Given the description of an element on the screen output the (x, y) to click on. 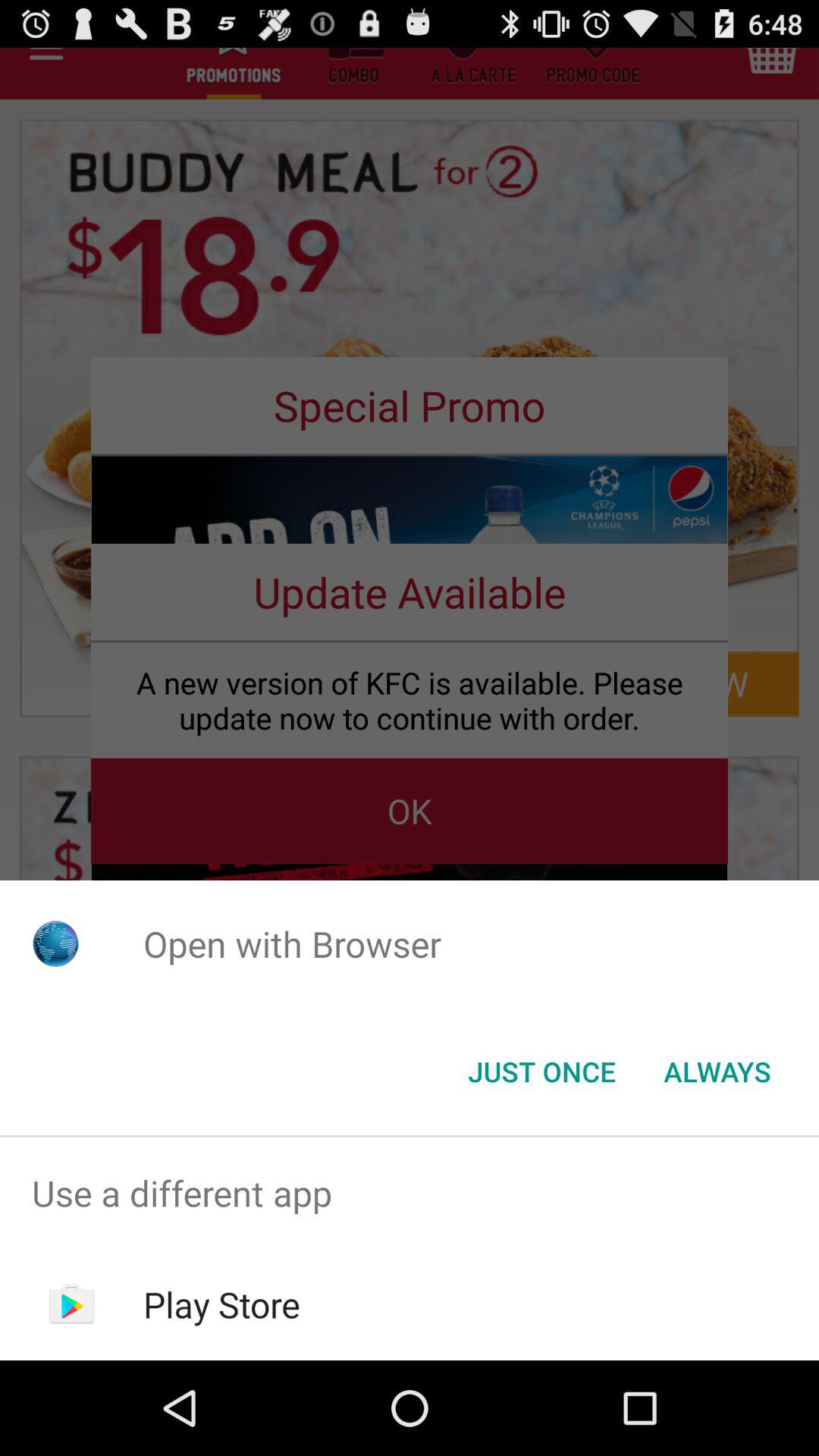
tap the app above the play store (409, 1192)
